Given the description of an element on the screen output the (x, y) to click on. 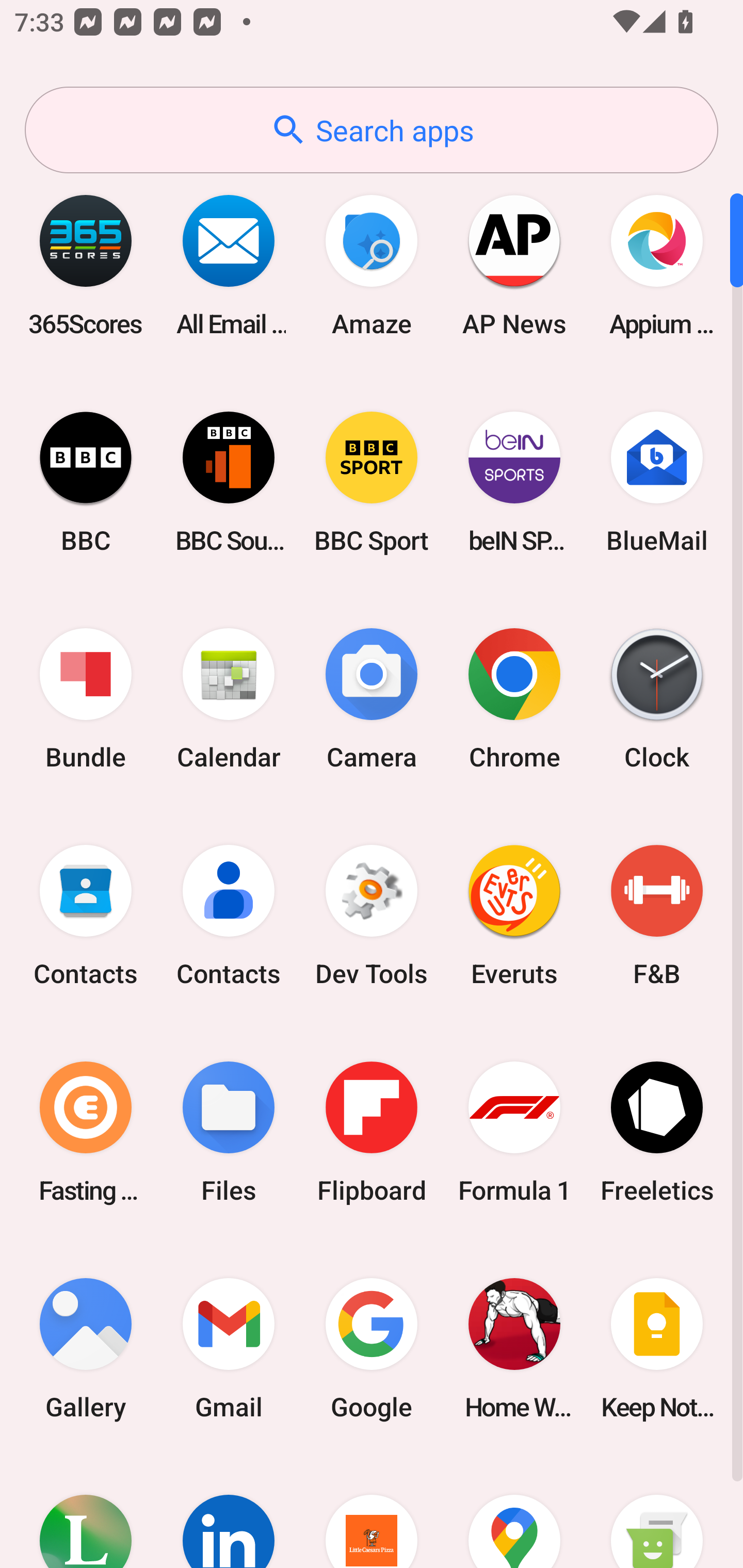
  Search apps (371, 130)
365Scores (85, 264)
All Email Connect (228, 264)
Amaze (371, 264)
AP News (514, 264)
Appium Settings (656, 264)
BBC (85, 482)
BBC Sounds (228, 482)
BBC Sport (371, 482)
beIN SPORTS (514, 482)
BlueMail (656, 482)
Bundle (85, 699)
Calendar (228, 699)
Camera (371, 699)
Chrome (514, 699)
Clock (656, 699)
Contacts (85, 915)
Contacts (228, 915)
Dev Tools (371, 915)
Everuts (514, 915)
F&B (656, 915)
Fasting Coach (85, 1131)
Files (228, 1131)
Flipboard (371, 1131)
Formula 1 (514, 1131)
Freeletics (656, 1131)
Gallery (85, 1348)
Gmail (228, 1348)
Google (371, 1348)
Home Workout (514, 1348)
Keep Notes (656, 1348)
Lifesum (85, 1512)
LinkedIn (228, 1512)
Little Caesars Pizza (371, 1512)
Maps (514, 1512)
Messaging (656, 1512)
